Given the description of an element on the screen output the (x, y) to click on. 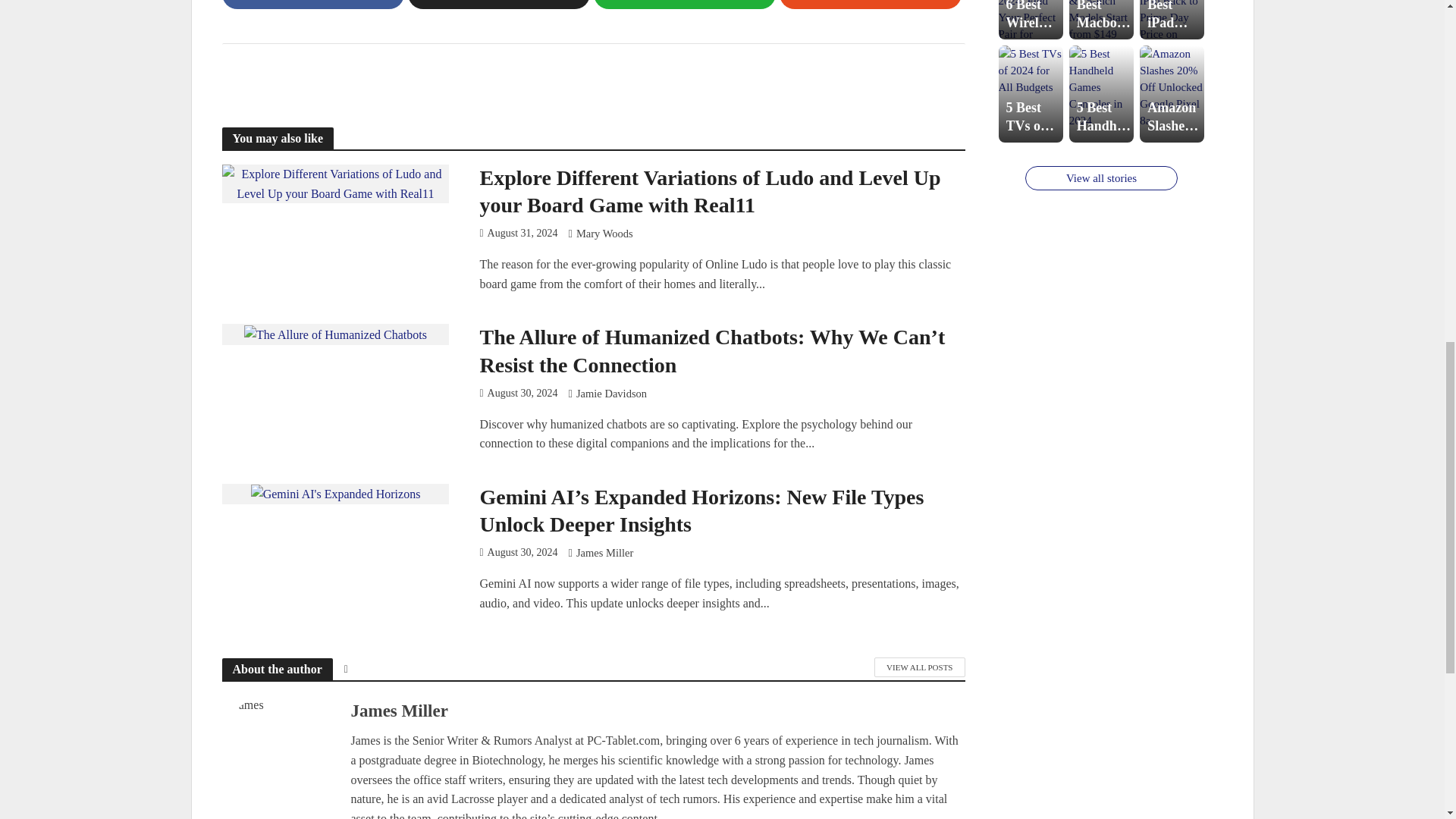
VIEW ALL POSTS (919, 667)
X (498, 4)
Mary Woods (604, 234)
Reddit (869, 4)
Jamie Davidson (611, 394)
